Given the description of an element on the screen output the (x, y) to click on. 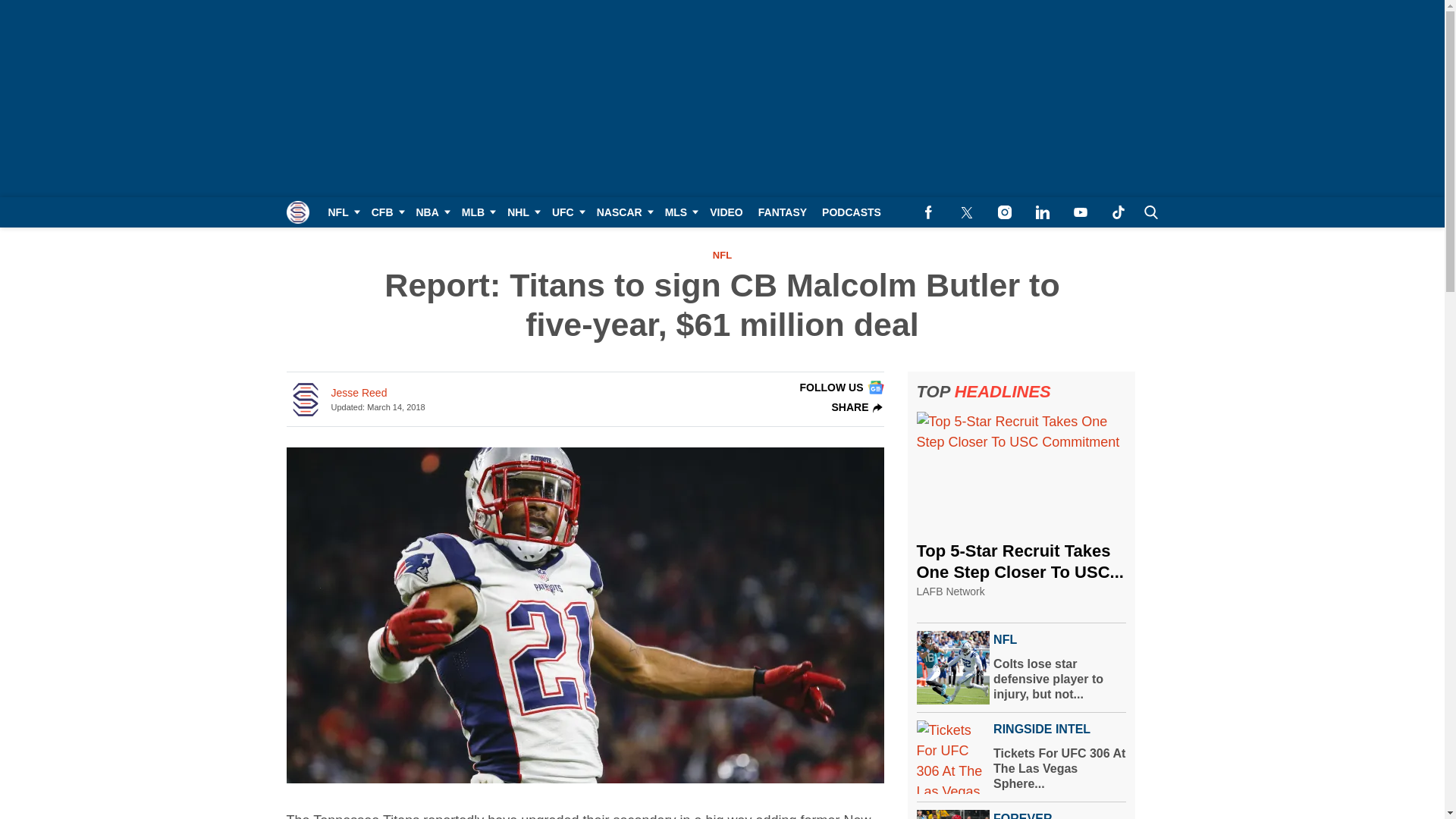
Subscribe to our TikTok channel (1118, 212)
NFL (341, 212)
NBA (429, 212)
UFC (566, 212)
Follow us on Instagram (1004, 212)
Follow us on Facebook (928, 212)
MLB (476, 212)
Follow us on Twitter (966, 212)
CFB (386, 212)
Connect with us on LinkedIn (1042, 212)
